Given the description of an element on the screen output the (x, y) to click on. 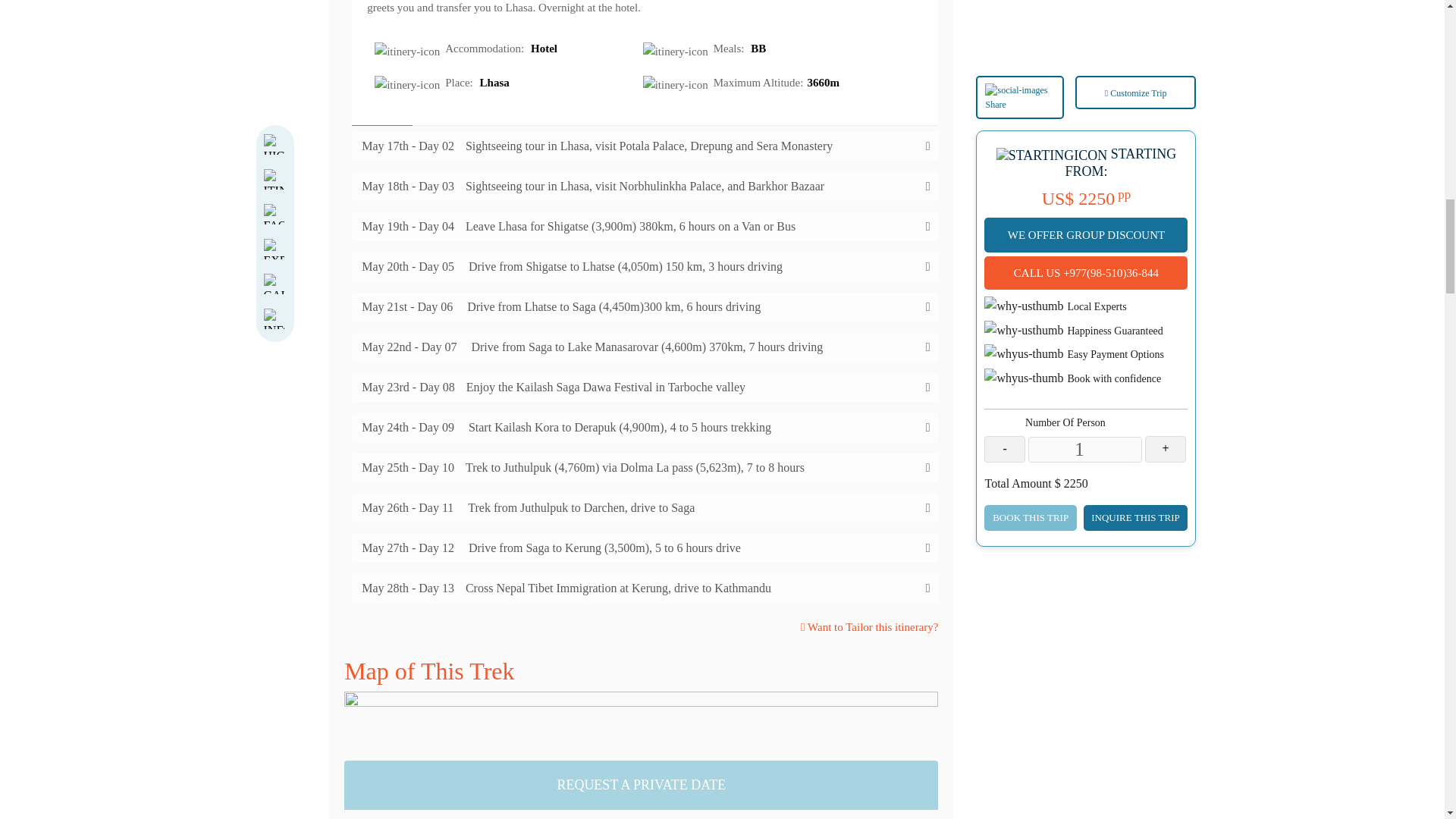
Map of This Trek (640, 689)
